Given the description of an element on the screen output the (x, y) to click on. 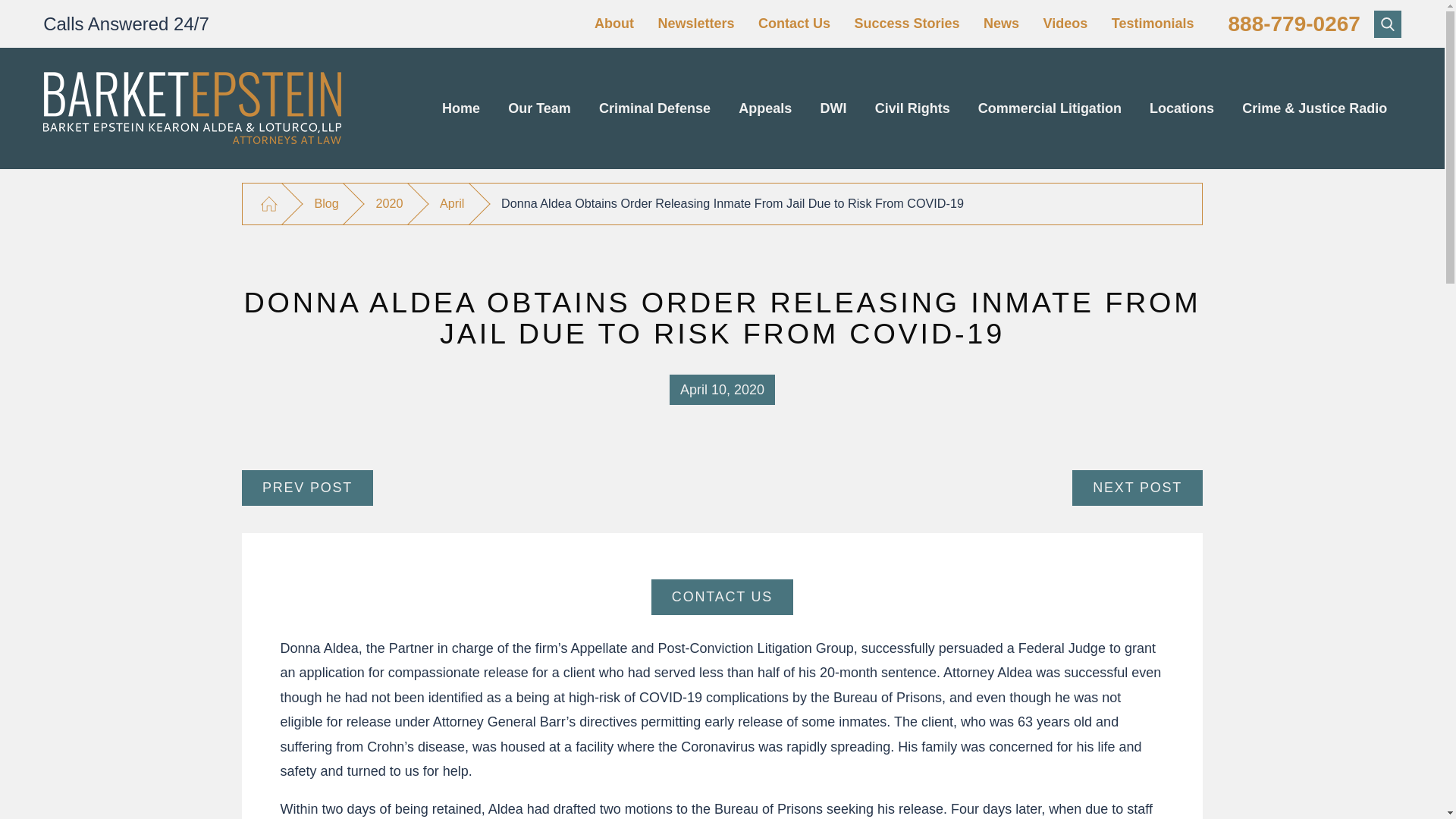
Testimonials (1152, 23)
Contact Us (793, 23)
Search Our Site (1387, 23)
Go Home (269, 203)
Newsletters (695, 23)
Our Team (540, 107)
Videos (1065, 23)
Home (460, 107)
About (613, 23)
888-779-0267 (1293, 23)
Search Icon (1387, 23)
News (1001, 23)
Success Stories (906, 23)
